Given the description of an element on the screen output the (x, y) to click on. 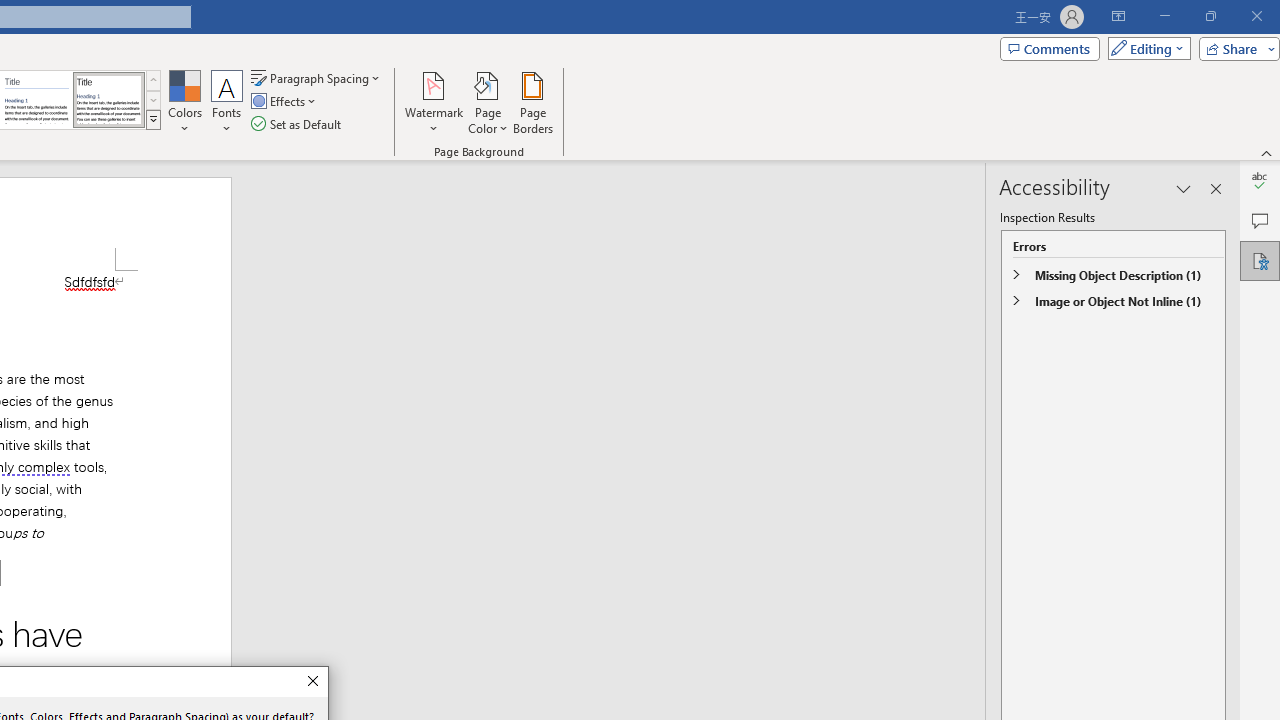
Word 2013 (108, 100)
Page Color (487, 102)
Word 2010 (36, 100)
Paragraph Spacing (317, 78)
Accessibility (1260, 260)
Effects (285, 101)
Fonts (227, 102)
Set as Default (298, 124)
Colors (184, 102)
